Given the description of an element on the screen output the (x, y) to click on. 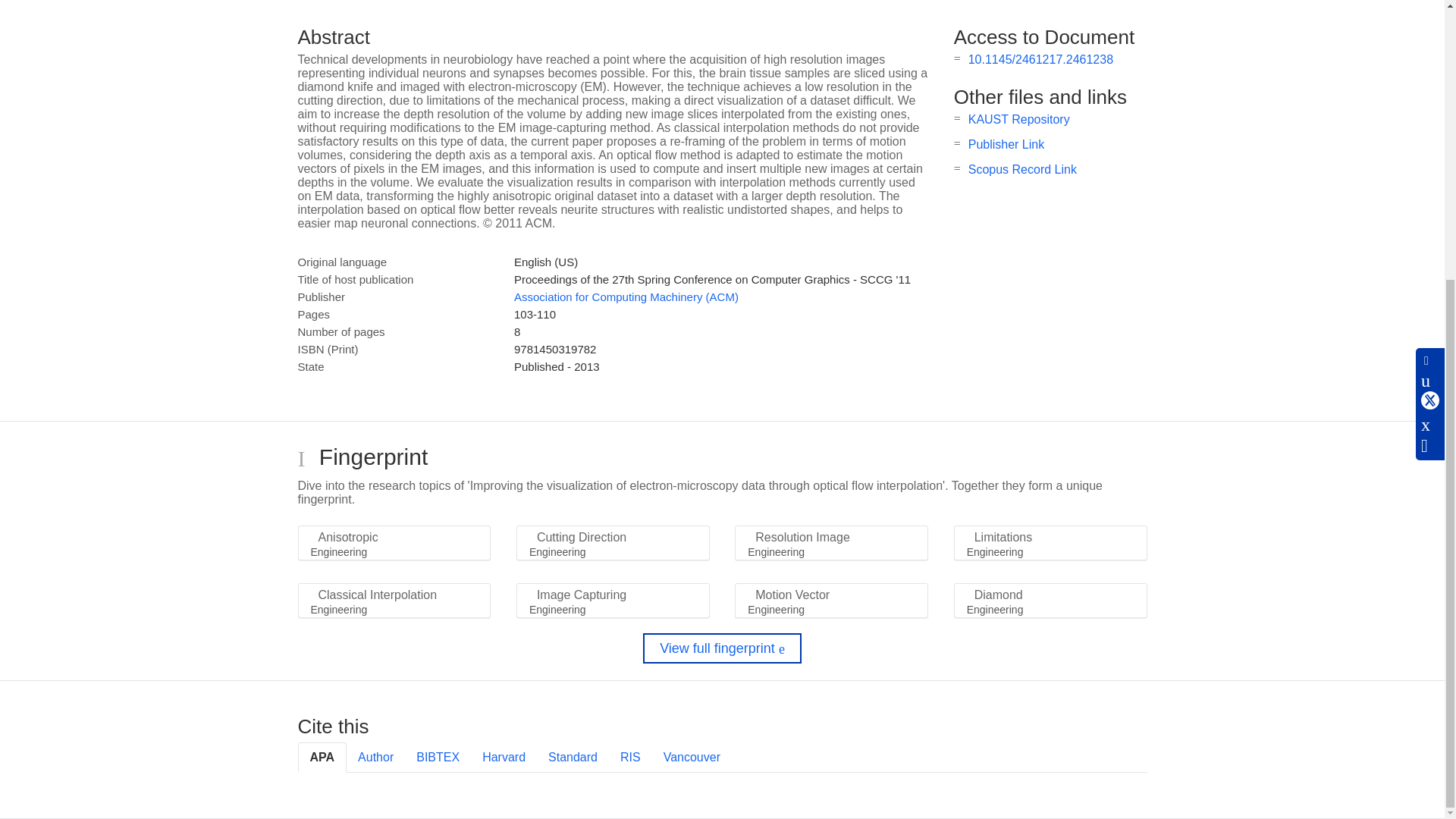
Publisher Link (1006, 144)
KAUST Repository (1019, 119)
Scopus Record Link (1022, 169)
View full fingerprint (722, 648)
